Given the description of an element on the screen output the (x, y) to click on. 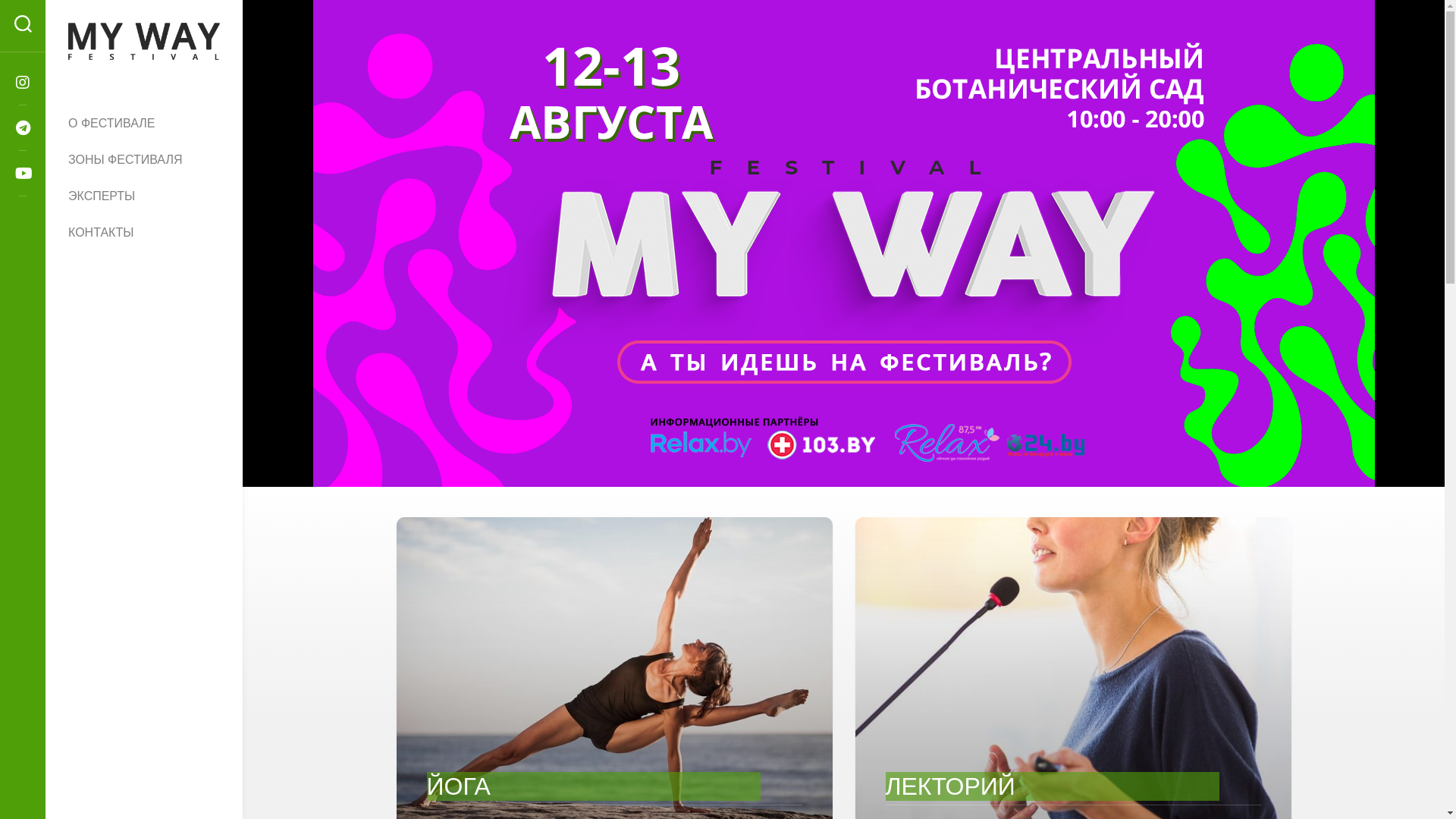
Instagram Element type: hover (22, 82)
youtube Element type: hover (22, 173)
Telegram Element type: hover (22, 127)
